Given the description of an element on the screen output the (x, y) to click on. 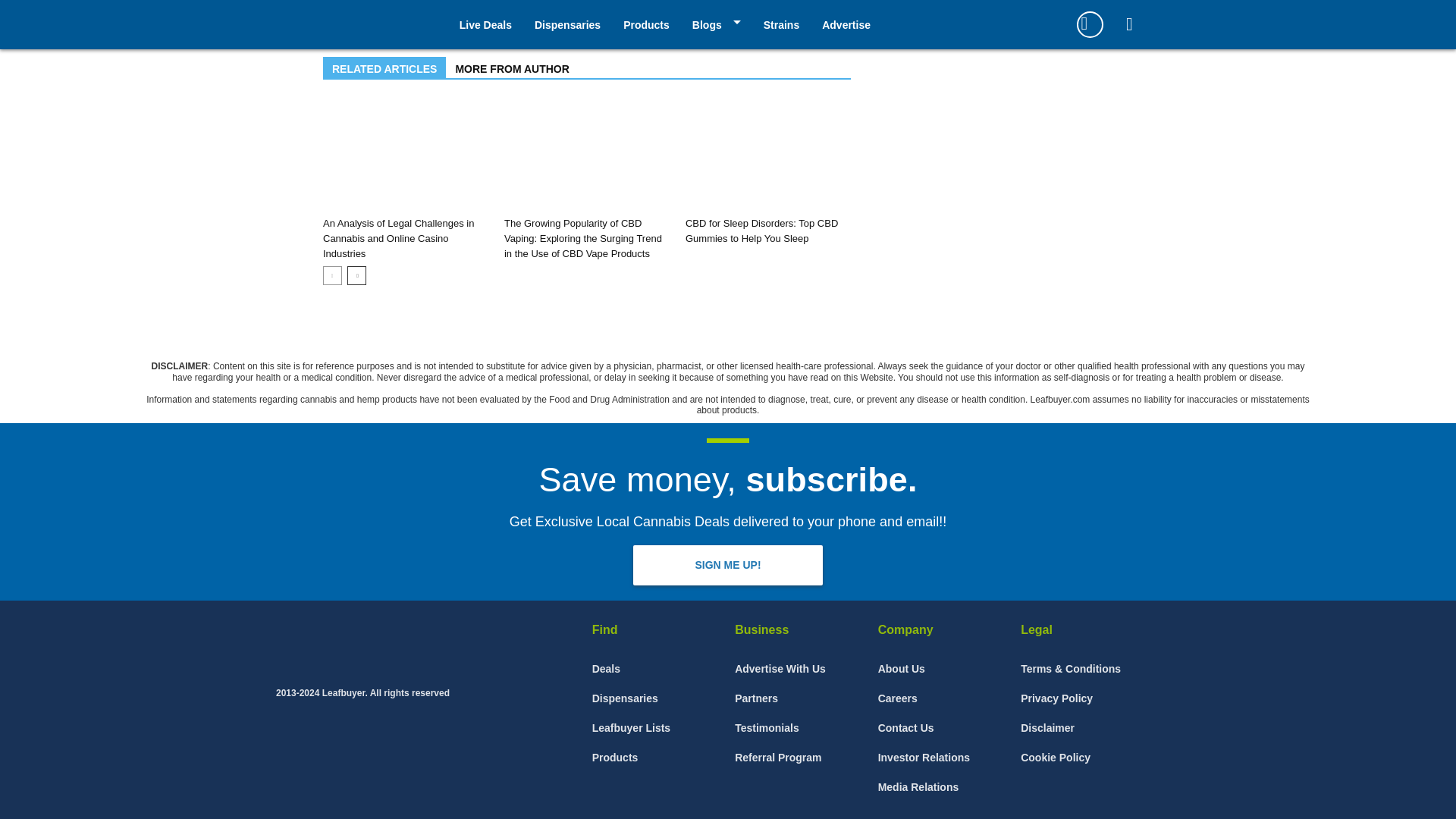
CBD for Sleep Disorders: Top CBD Gummies to Help You Sleep (767, 154)
CBD for Sleep Disorders: Top CBD Gummies to Help You Sleep (761, 230)
